Given the description of an element on the screen output the (x, y) to click on. 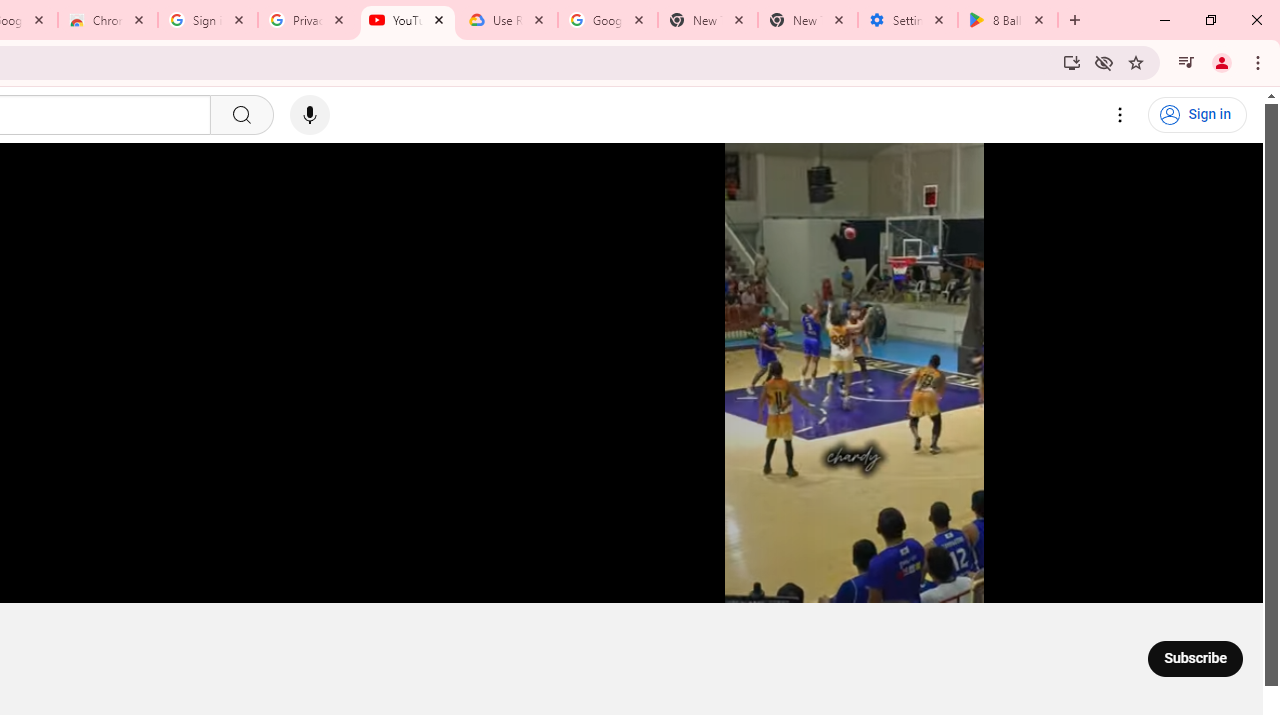
Settings - System (907, 20)
Sign in - Google Accounts (207, 20)
YouTube (408, 20)
Search with your voice (309, 115)
New Tab (807, 20)
Install YouTube (1071, 62)
